Given the description of an element on the screen output the (x, y) to click on. 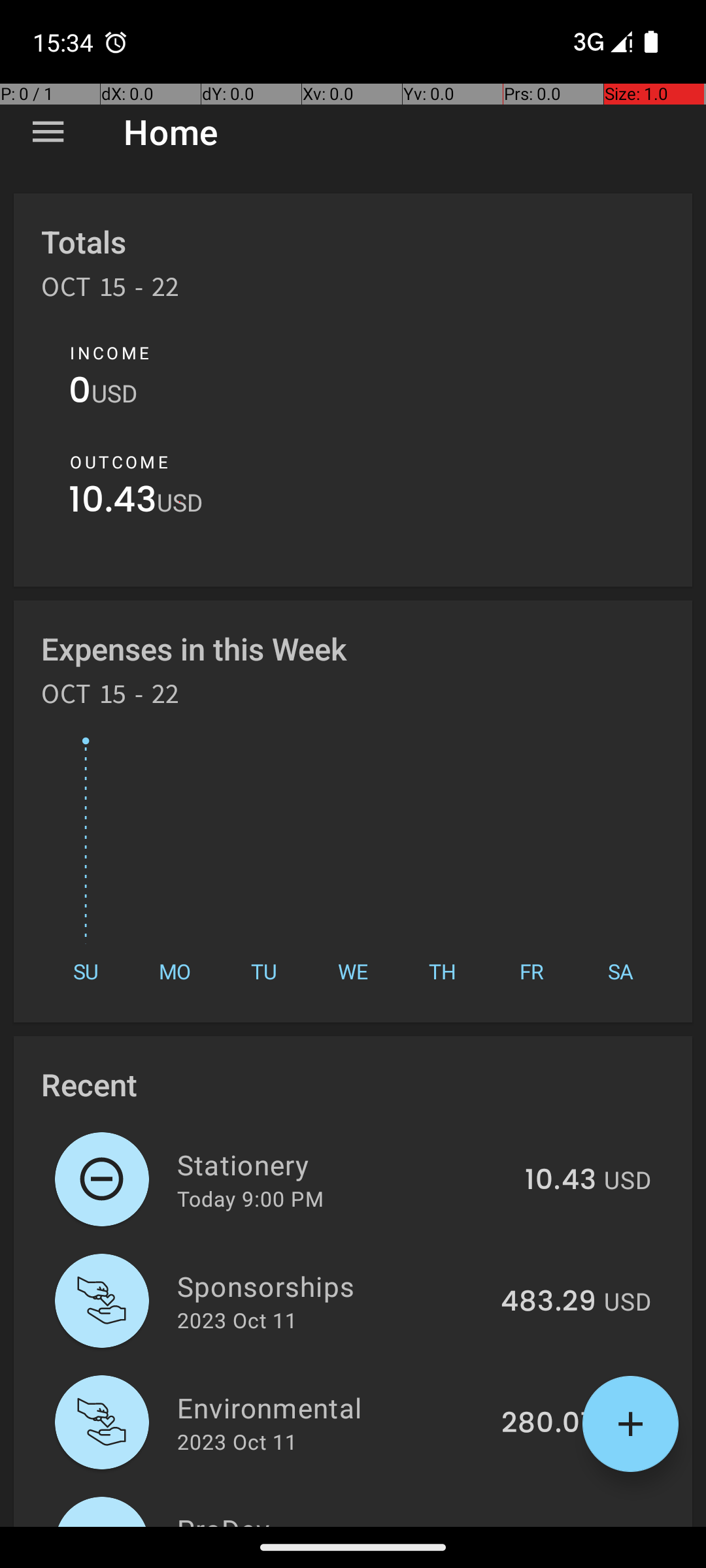
10.43 Element type: android.widget.TextView (112, 502)
Sponsorships Element type: android.widget.TextView (331, 1285)
483.29 Element type: android.widget.TextView (548, 1301)
Environmental Element type: android.widget.TextView (331, 1407)
280.07 Element type: android.widget.TextView (548, 1423)
473.43 Element type: android.widget.TextView (548, 1524)
